Given the description of an element on the screen output the (x, y) to click on. 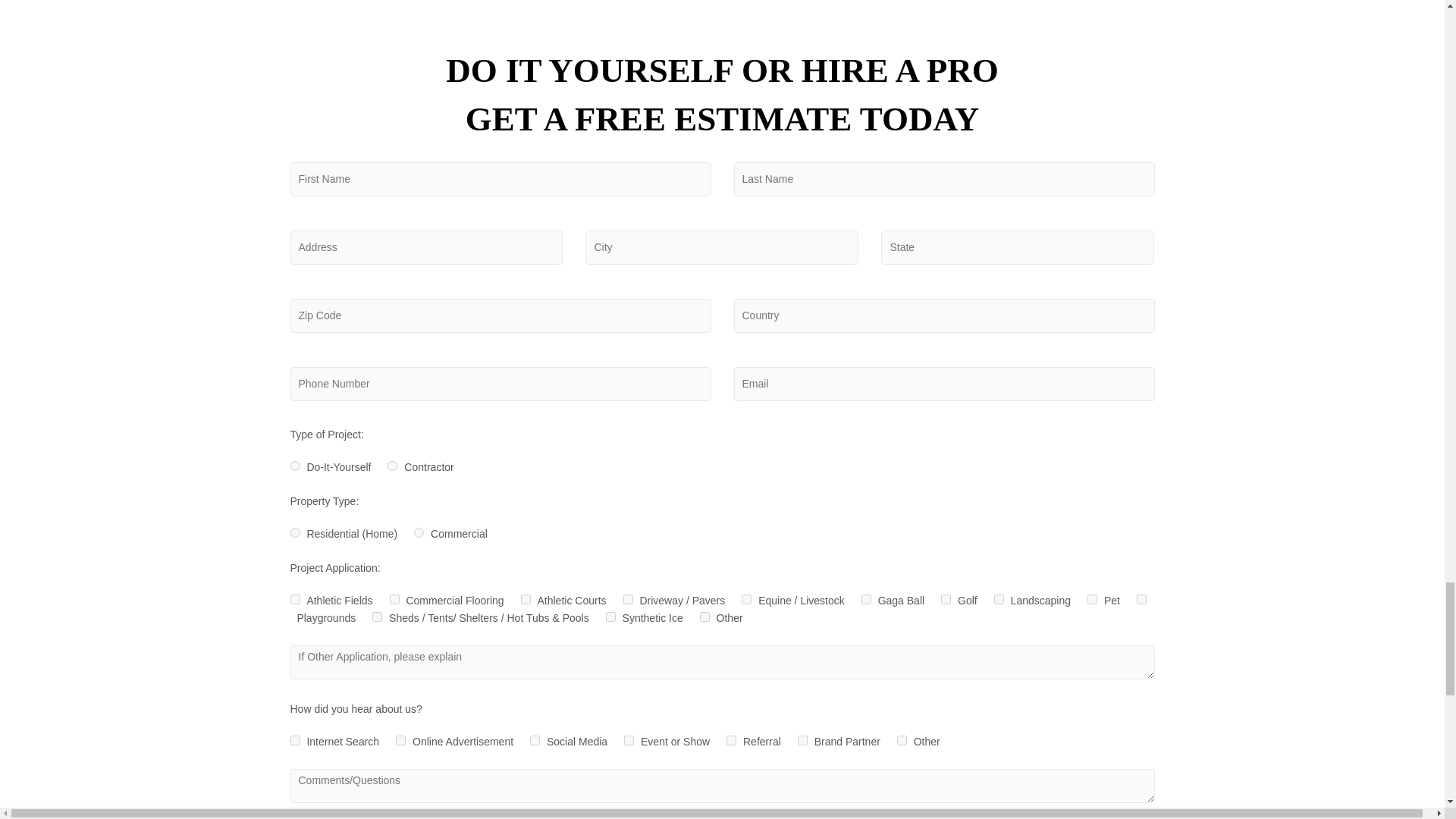
Do-It-Yourself (294, 465)
Commercial Flooring (394, 599)
Gaga Ball (865, 599)
Athletic Courts (526, 599)
Contractor (392, 465)
Athletic Fields (294, 599)
Commercial (418, 532)
Golf (945, 599)
